Given the description of an element on the screen output the (x, y) to click on. 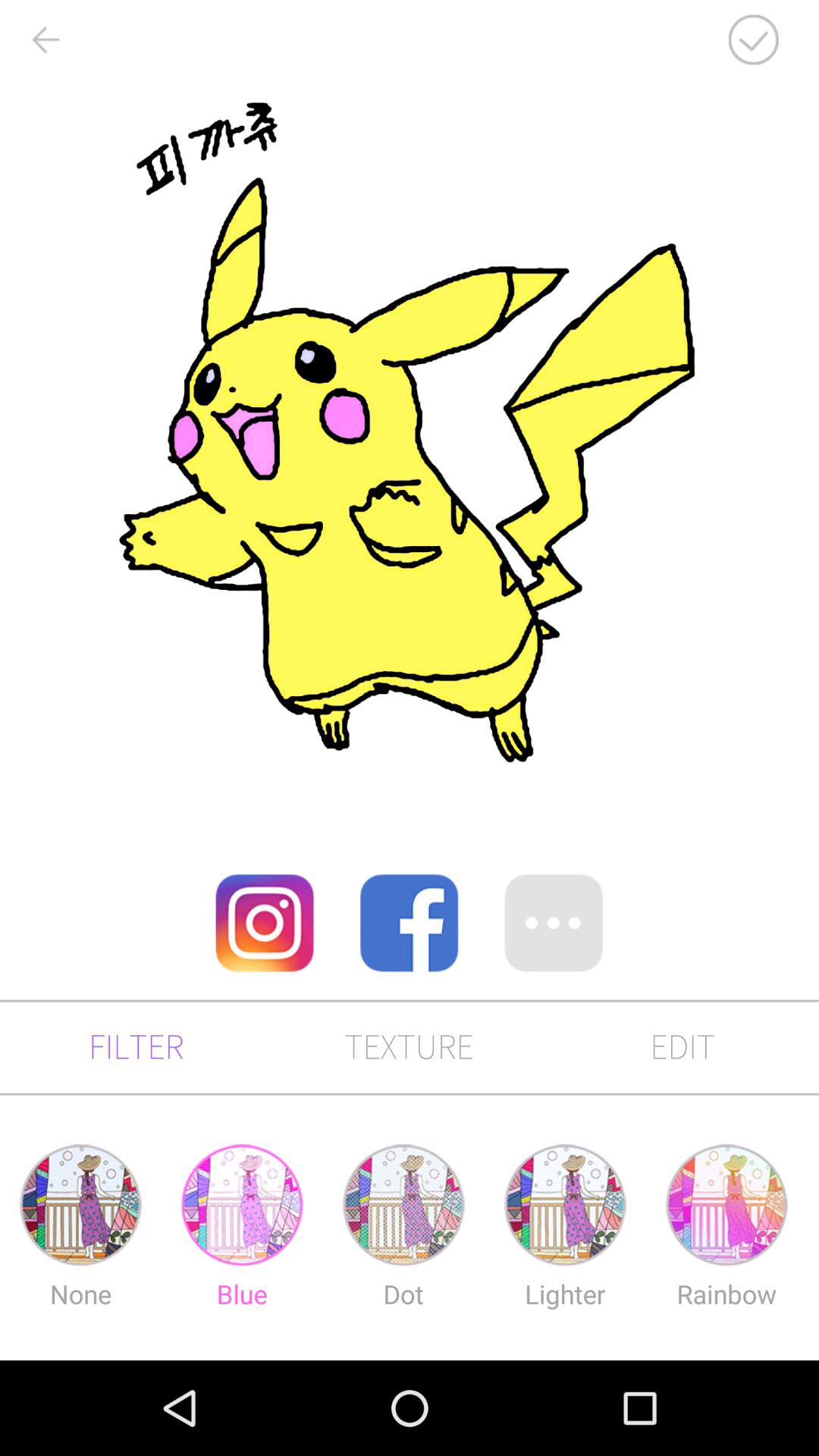
share on facebook (409, 922)
